Given the description of an element on the screen output the (x, y) to click on. 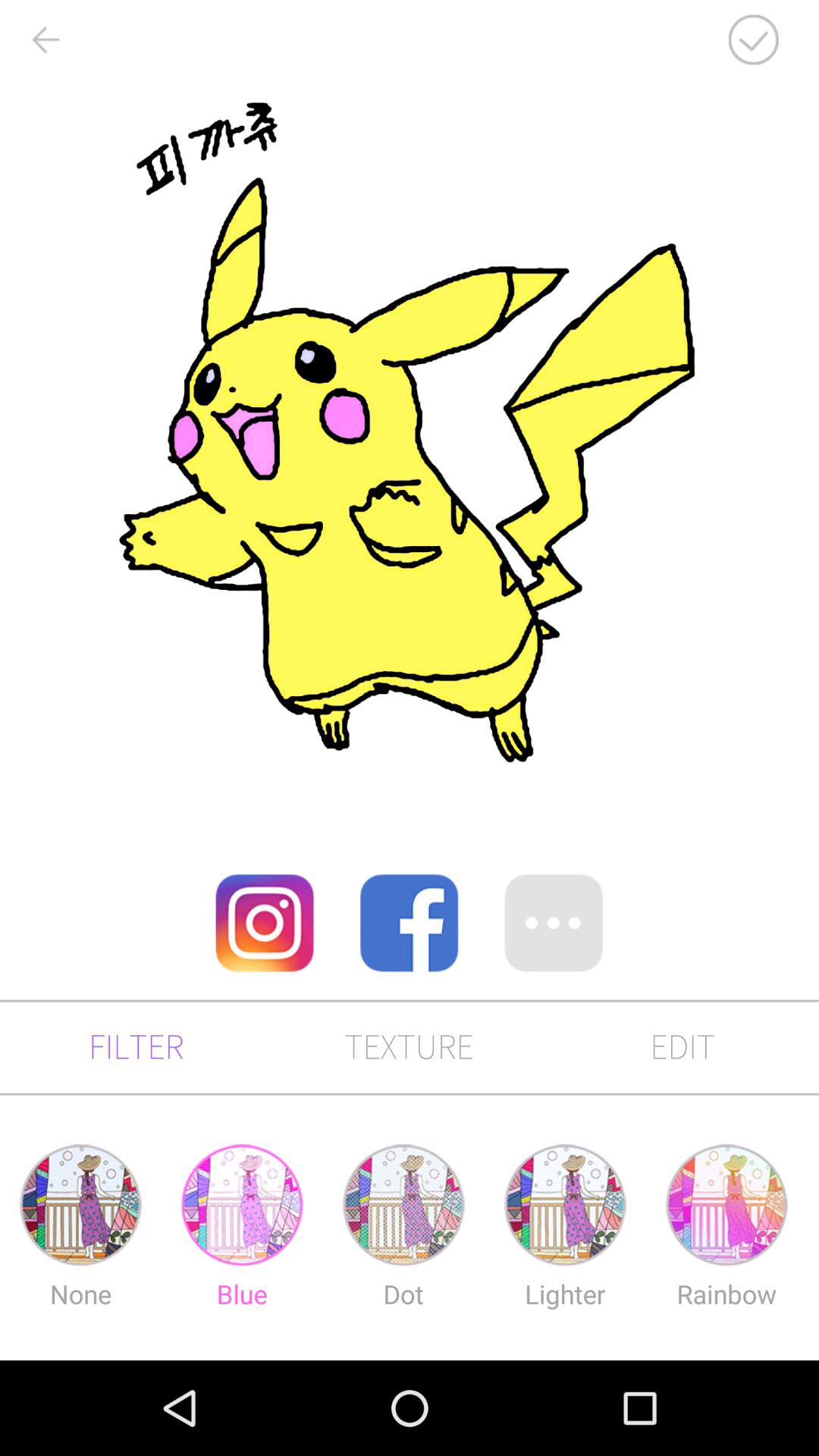
share on facebook (409, 922)
